Given the description of an element on the screen output the (x, y) to click on. 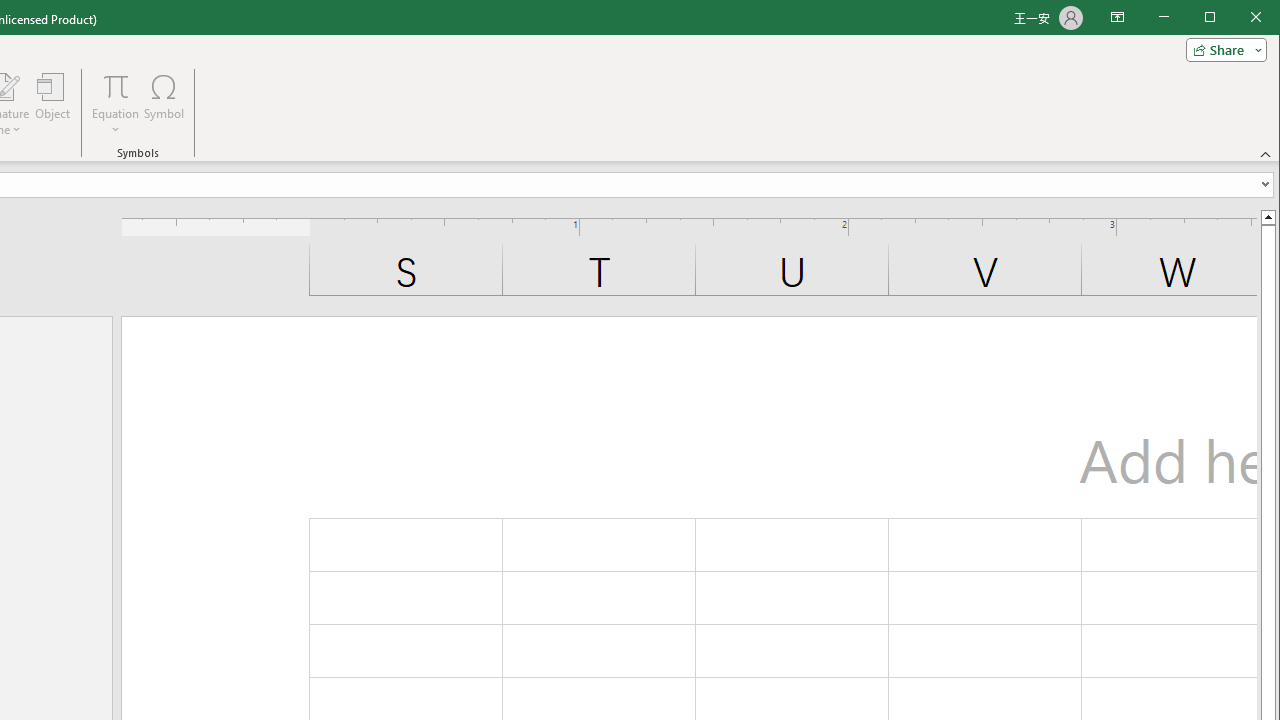
Maximize (1238, 18)
Object... (53, 104)
Symbol... (164, 104)
Equation (115, 104)
Equation (115, 86)
